Given the description of an element on the screen output the (x, y) to click on. 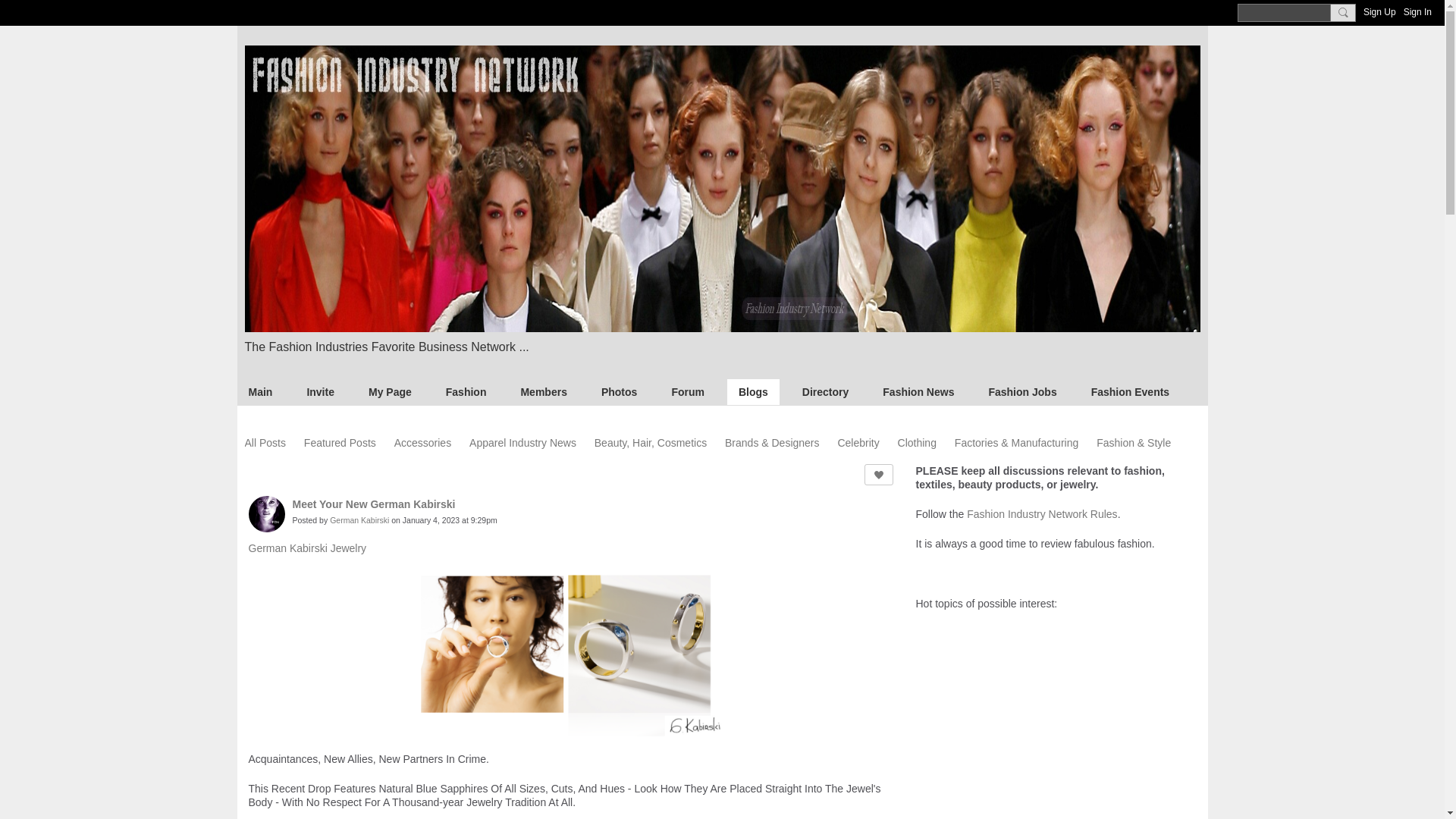
Accessories (422, 442)
Like (878, 474)
Clothing (917, 442)
Forum (687, 391)
Invite (320, 391)
Fashion (465, 391)
Photos (618, 391)
Fashion Events (1130, 391)
Fashion Jobs (1021, 391)
All Posts (264, 442)
Beauty, Hair, Cosmetics (650, 442)
Main (259, 391)
Sign Up (1379, 12)
Apparel Industry News (522, 442)
Celebrity (858, 442)
